Given the description of an element on the screen output the (x, y) to click on. 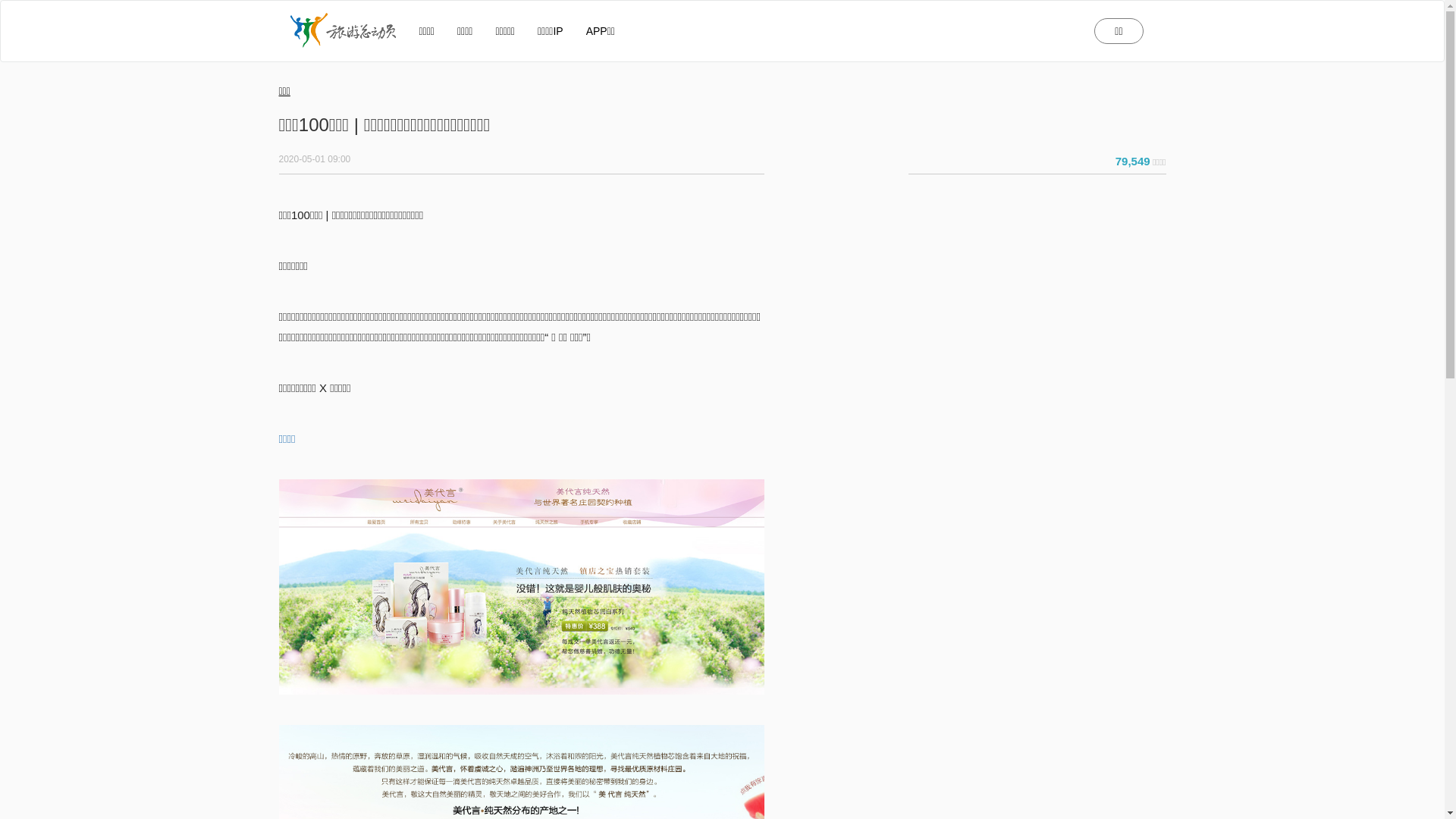
1544693536388265.jpg Element type: hover (521, 586)
